Given the description of an element on the screen output the (x, y) to click on. 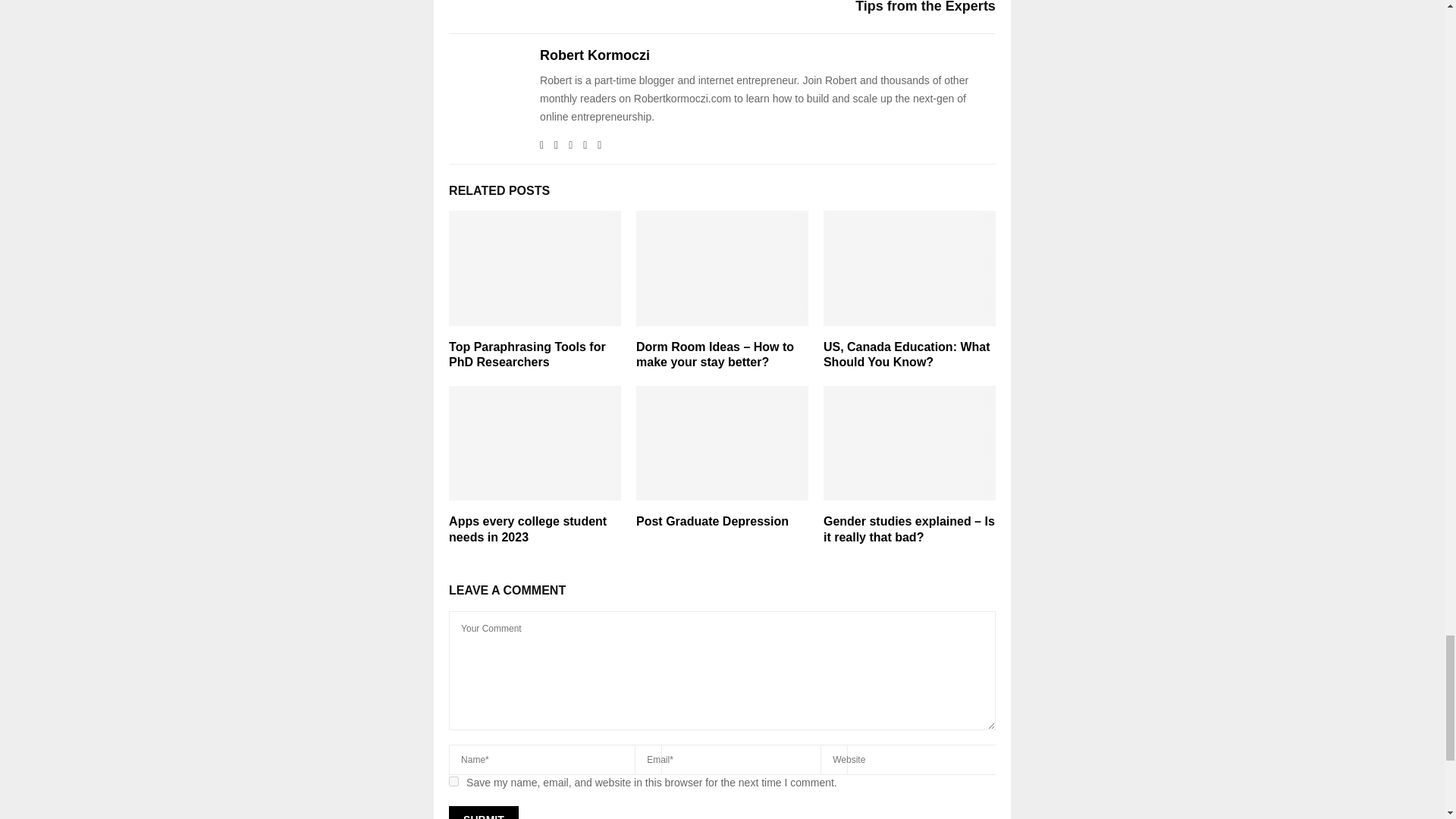
Submit (483, 812)
yes (453, 781)
